Given the description of an element on the screen output the (x, y) to click on. 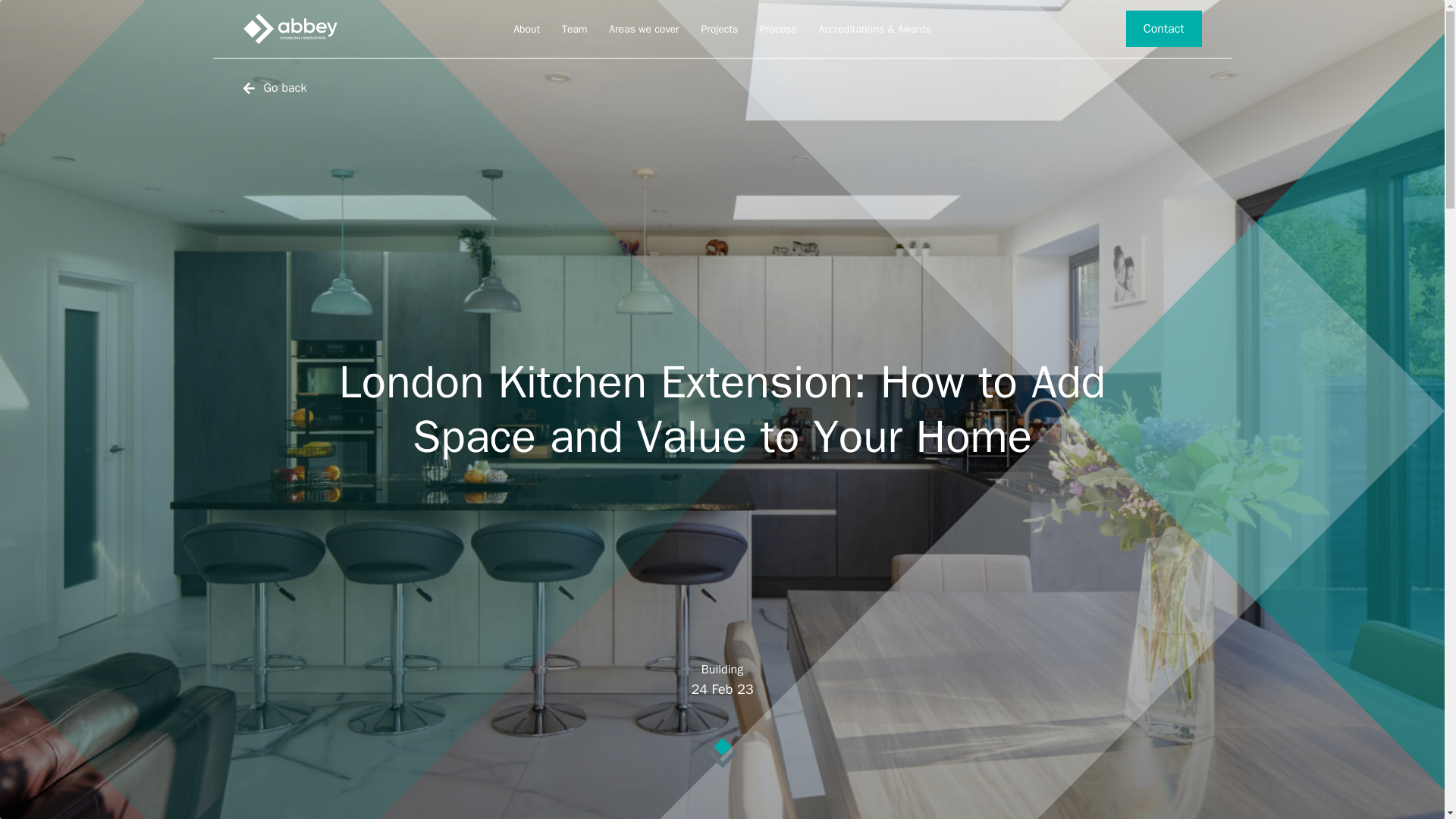
Team (575, 30)
Projects (719, 30)
Contact (1163, 28)
Go to the homepage (289, 28)
Go back (274, 87)
Process (778, 30)
About (526, 30)
Areas we cover (643, 30)
